Given the description of an element on the screen output the (x, y) to click on. 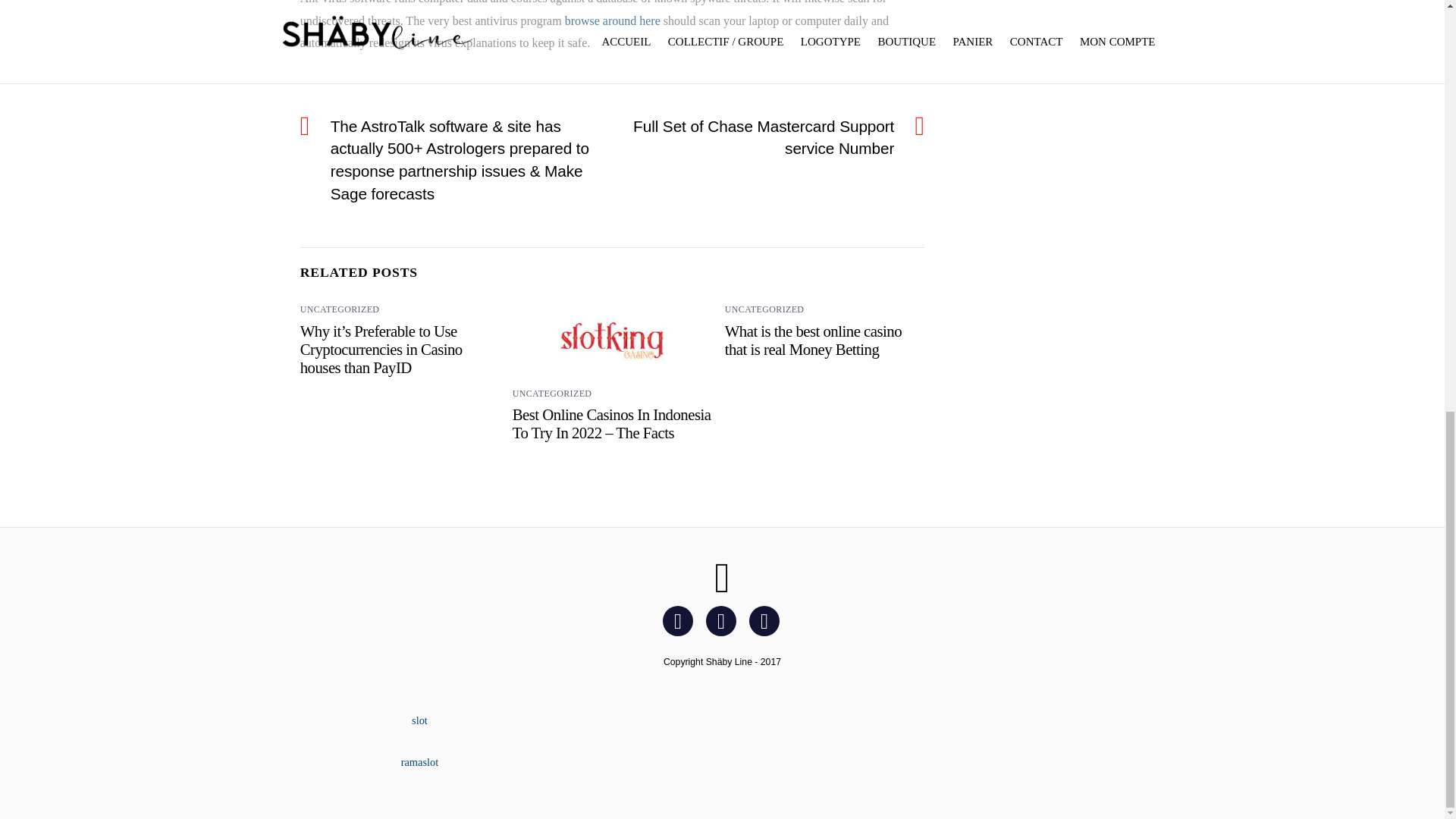
Full Set of Chase Mastercard Support service Number (761, 137)
YouTube (766, 620)
UNCATEGORIZED (339, 308)
What is the best online casino that is real Money Betting (813, 339)
slot (420, 720)
UNCATEGORIZED (765, 308)
What is the best online casino that is real Money Betting (813, 339)
ramaslot (420, 761)
browse around here (612, 20)
Facebook (680, 620)
